Given the description of an element on the screen output the (x, y) to click on. 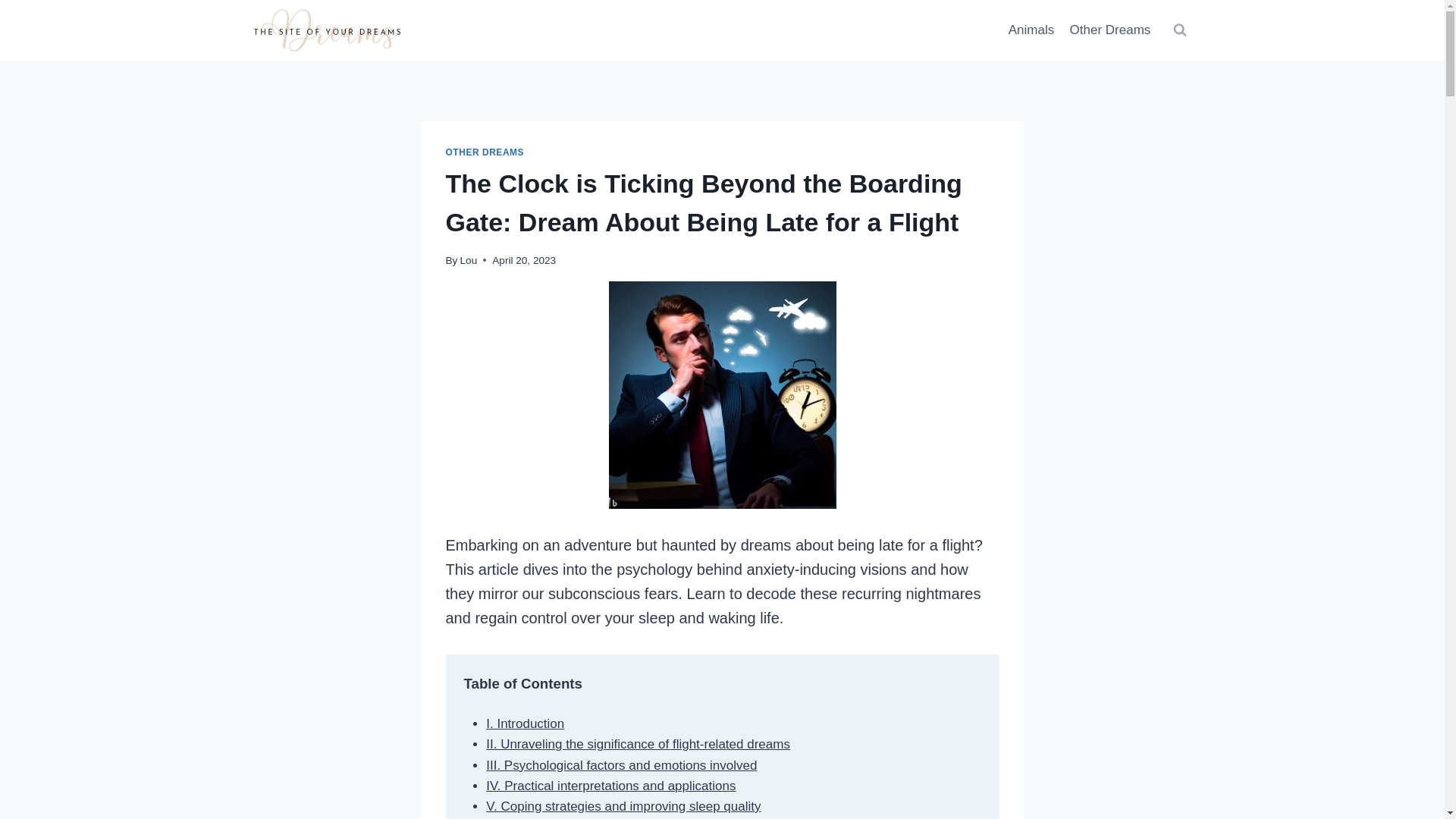
I. Introduction (525, 723)
IV. Practical interpretations and applications (610, 785)
II. Unraveling the significance of flight-related dreams (638, 744)
Lou (468, 260)
Animals (1031, 30)
III. Psychological factors and emotions involved (621, 765)
OTHER DREAMS (484, 152)
V. Coping strategies and improving sleep quality (623, 806)
Other Dreams (1109, 30)
